Given the description of an element on the screen output the (x, y) to click on. 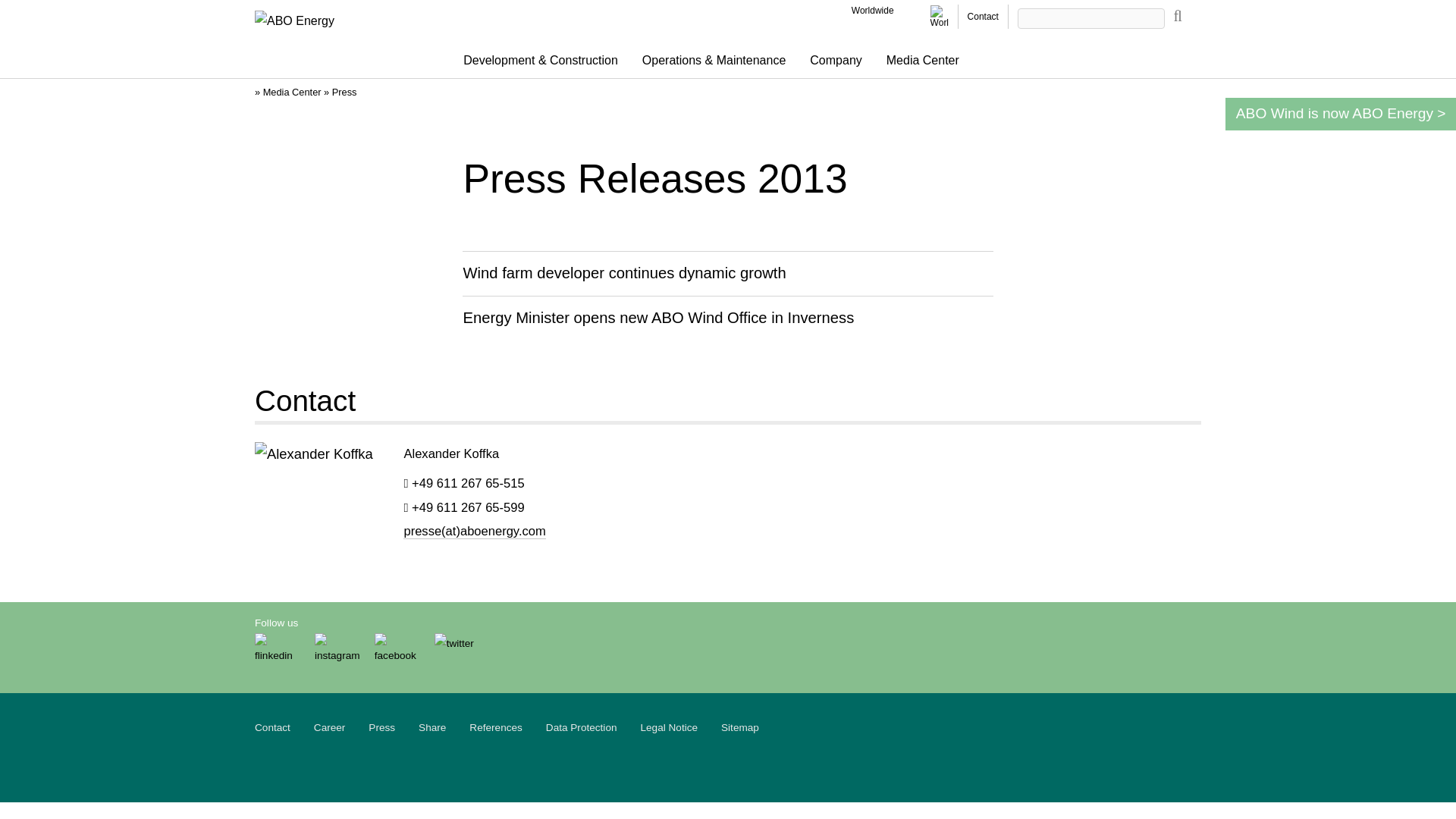
Contact (983, 16)
Worldwide (872, 9)
Media Center (923, 60)
Company (835, 60)
